Given the description of an element on the screen output the (x, y) to click on. 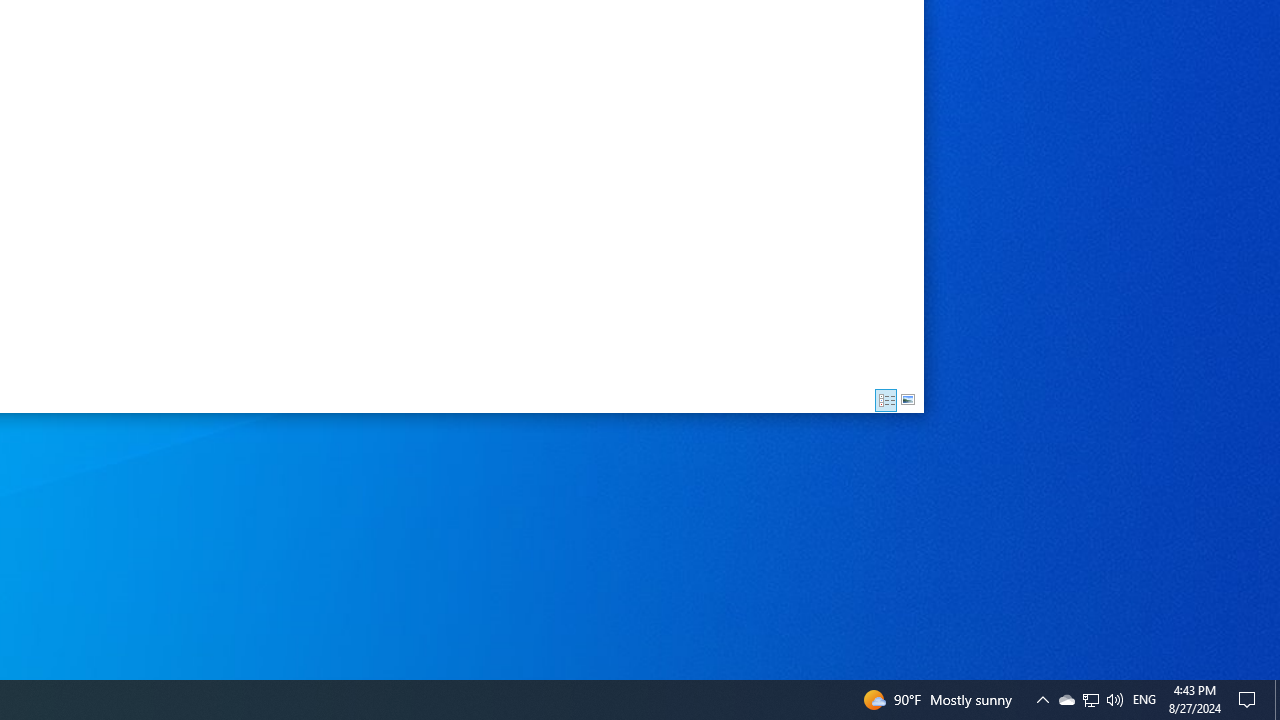
Large Icons (908, 399)
User Promoted Notification Area (1090, 699)
Notification Chevron (1042, 699)
Details (886, 399)
Q2790: 100% (1066, 699)
Show desktop (1091, 699)
Action Center, No new notifications (1114, 699)
Tray Input Indicator - English (United States) (1277, 699)
